Given the description of an element on the screen output the (x, y) to click on. 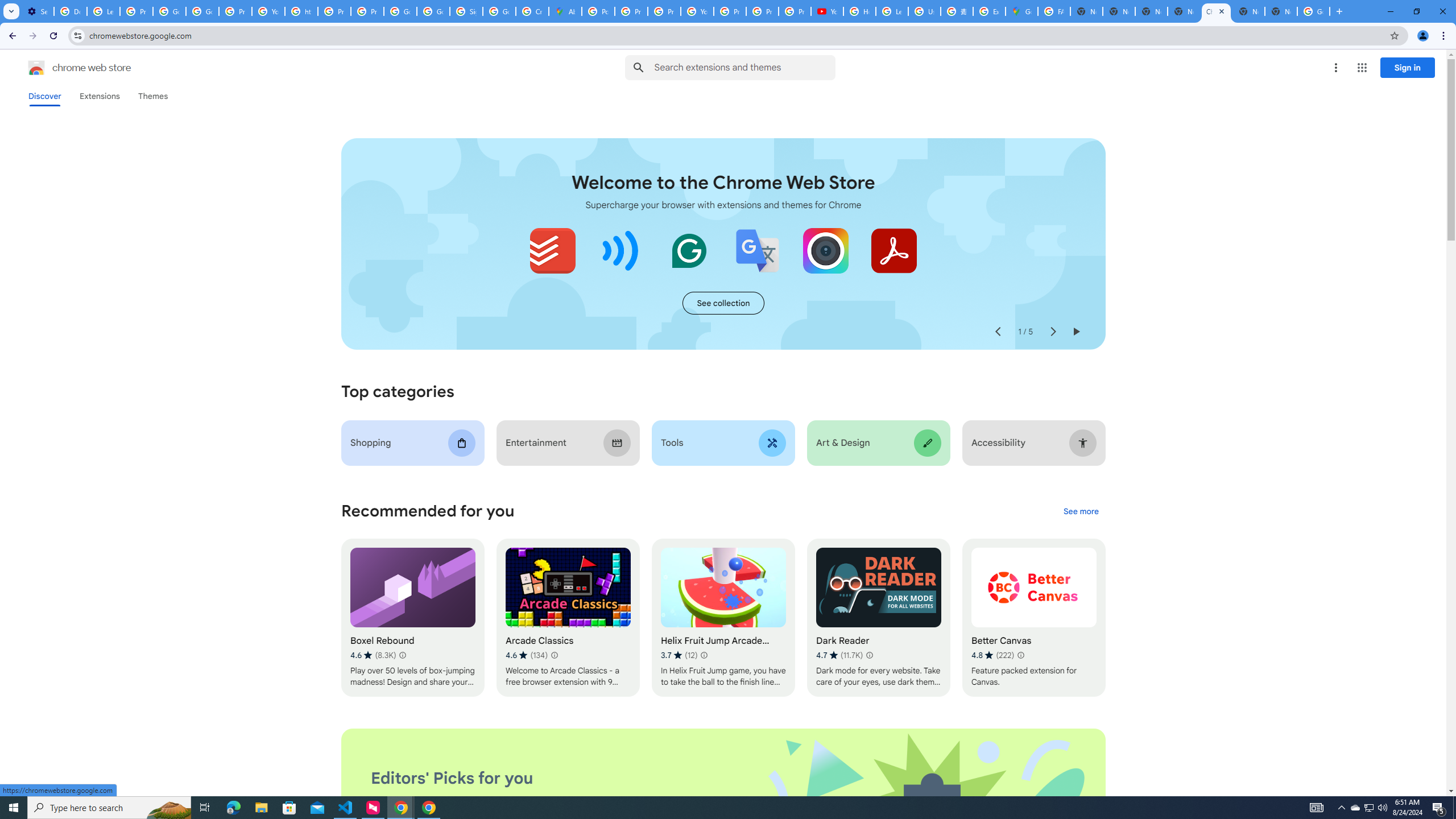
YouTube (697, 11)
Google Maps (1021, 11)
